Given the description of an element on the screen output the (x, y) to click on. 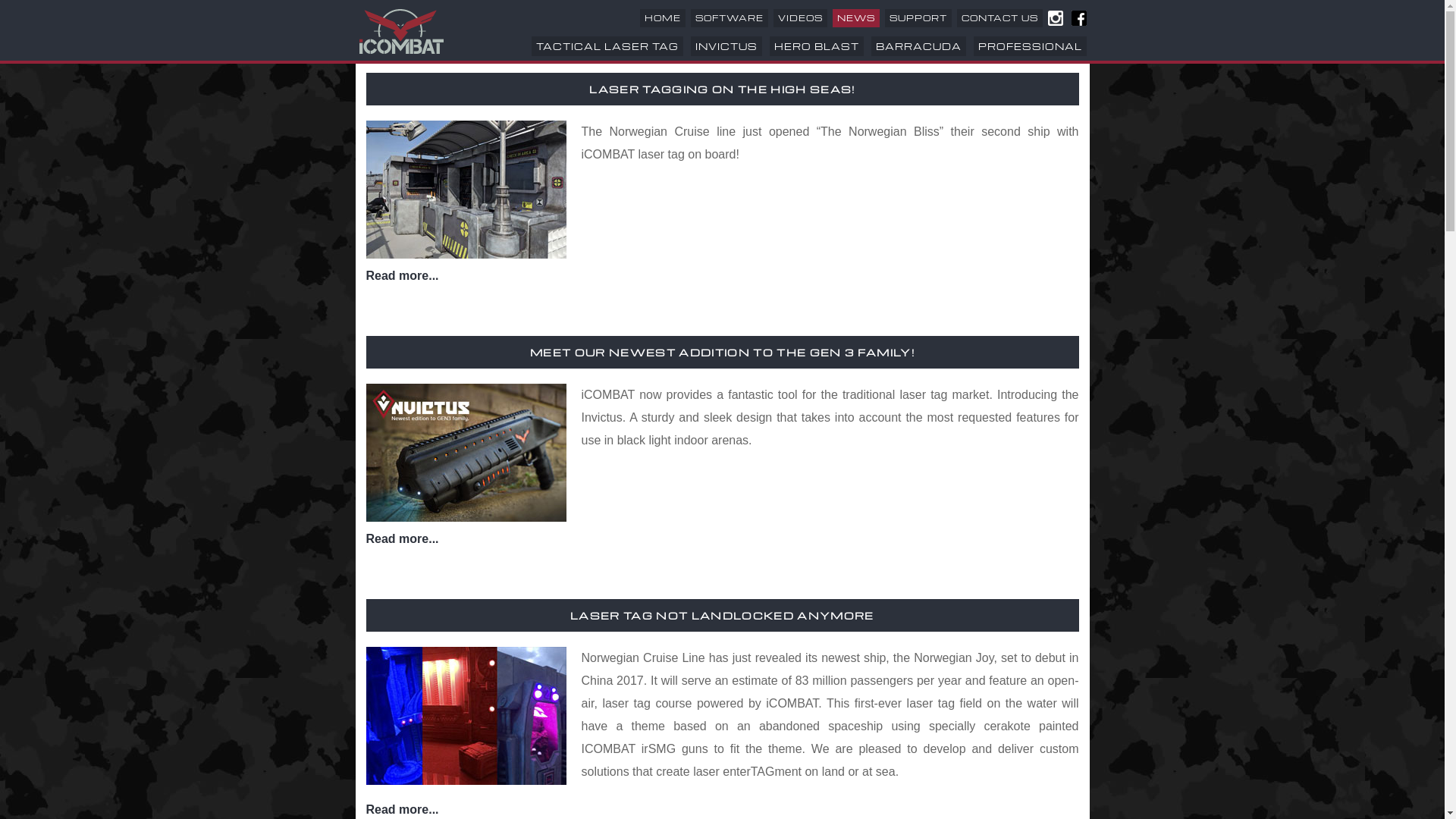
HOME Element type: text (662, 18)
LASER TAGGING ON THE HIGH SEAS! Element type: text (721, 88)
Read more... Element type: text (401, 809)
SOFTWARE Element type: text (729, 18)
MEET OUR NEWEST ADDITION TO THE GEN 3 FAMILY! Element type: text (722, 351)
CONTACT US Element type: text (999, 18)
SUPPORT Element type: text (917, 18)
Read more... Element type: text (401, 275)
PROFESSIONAL Element type: text (1029, 46)
BARRACUDA Element type: text (917, 46)
INVICTUS Element type: text (725, 46)
Read more... Element type: text (401, 538)
NEWS Element type: text (855, 18)
VIDEOS Element type: text (800, 18)
HERO BLAST Element type: text (815, 46)
TACTICAL LASER TAG Element type: text (606, 46)
LASER TAG NOT LANDLOCKED ANYMORE Element type: text (722, 614)
